Given the description of an element on the screen output the (x, y) to click on. 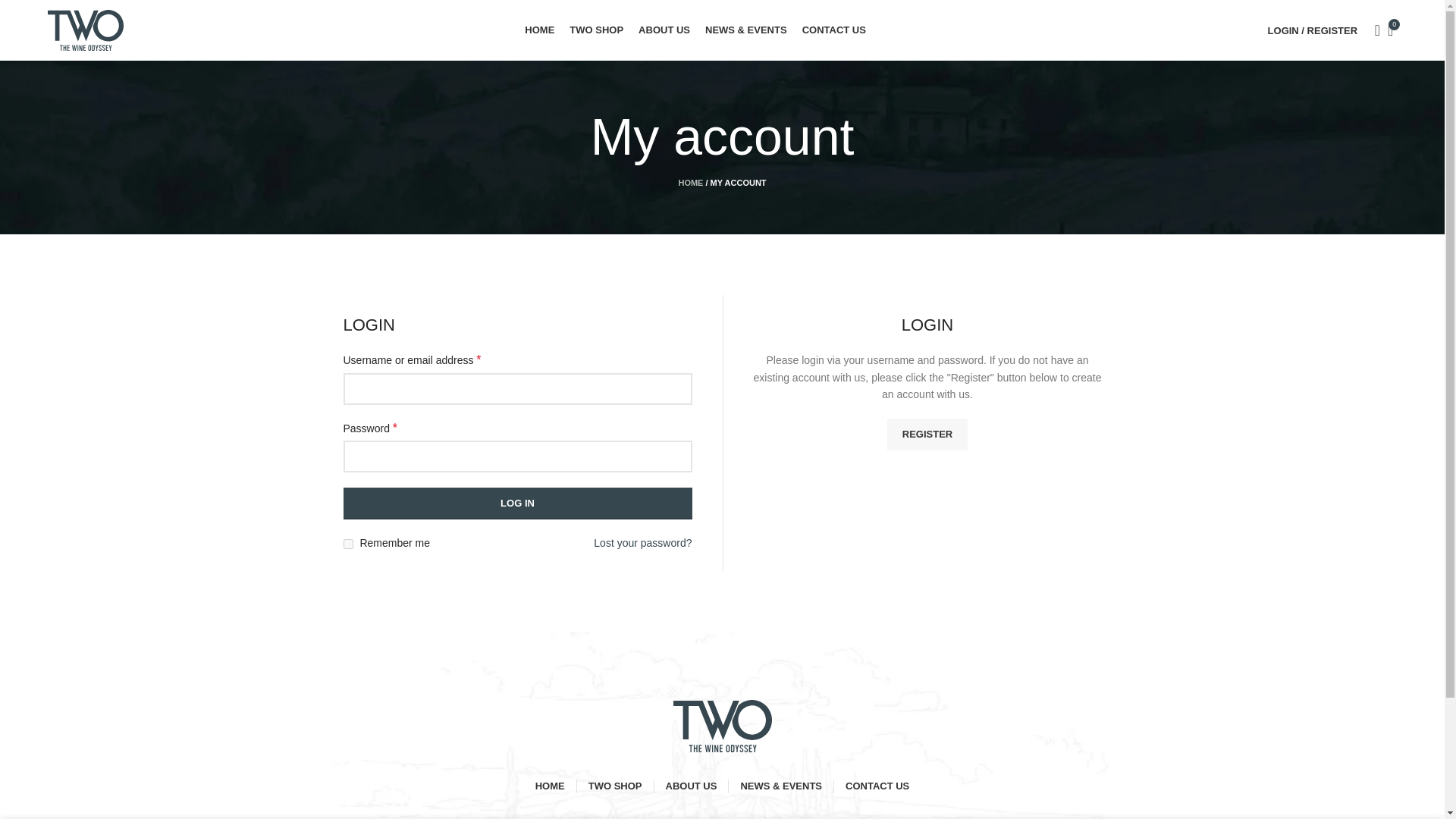
CONTACT US (834, 30)
Lost your password? (642, 542)
HOME (539, 30)
HOME (549, 786)
TWO logo color (721, 726)
REGISTER (927, 434)
CONTACT US (876, 786)
forever (347, 543)
LOG IN (516, 503)
TWO SHOP (596, 30)
Remember me (347, 543)
My account (1312, 30)
ABOUT US (691, 786)
TWO SHOP (615, 786)
ABOUT US (664, 30)
